Given the description of an element on the screen output the (x, y) to click on. 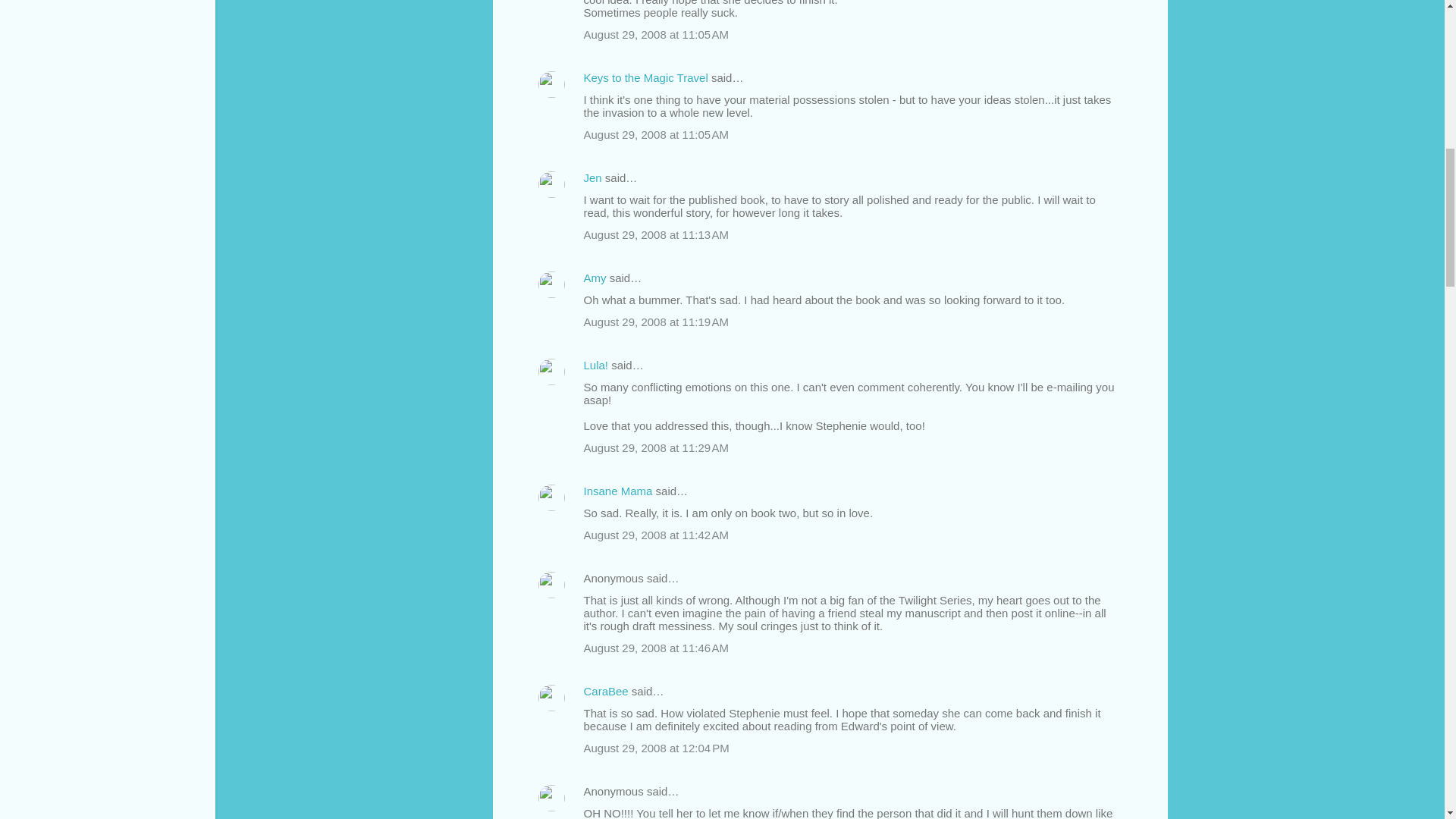
Keys to the Magic Travel (645, 77)
Lula! (595, 364)
Insane Mama (617, 490)
Jen (592, 177)
